Given the description of an element on the screen output the (x, y) to click on. 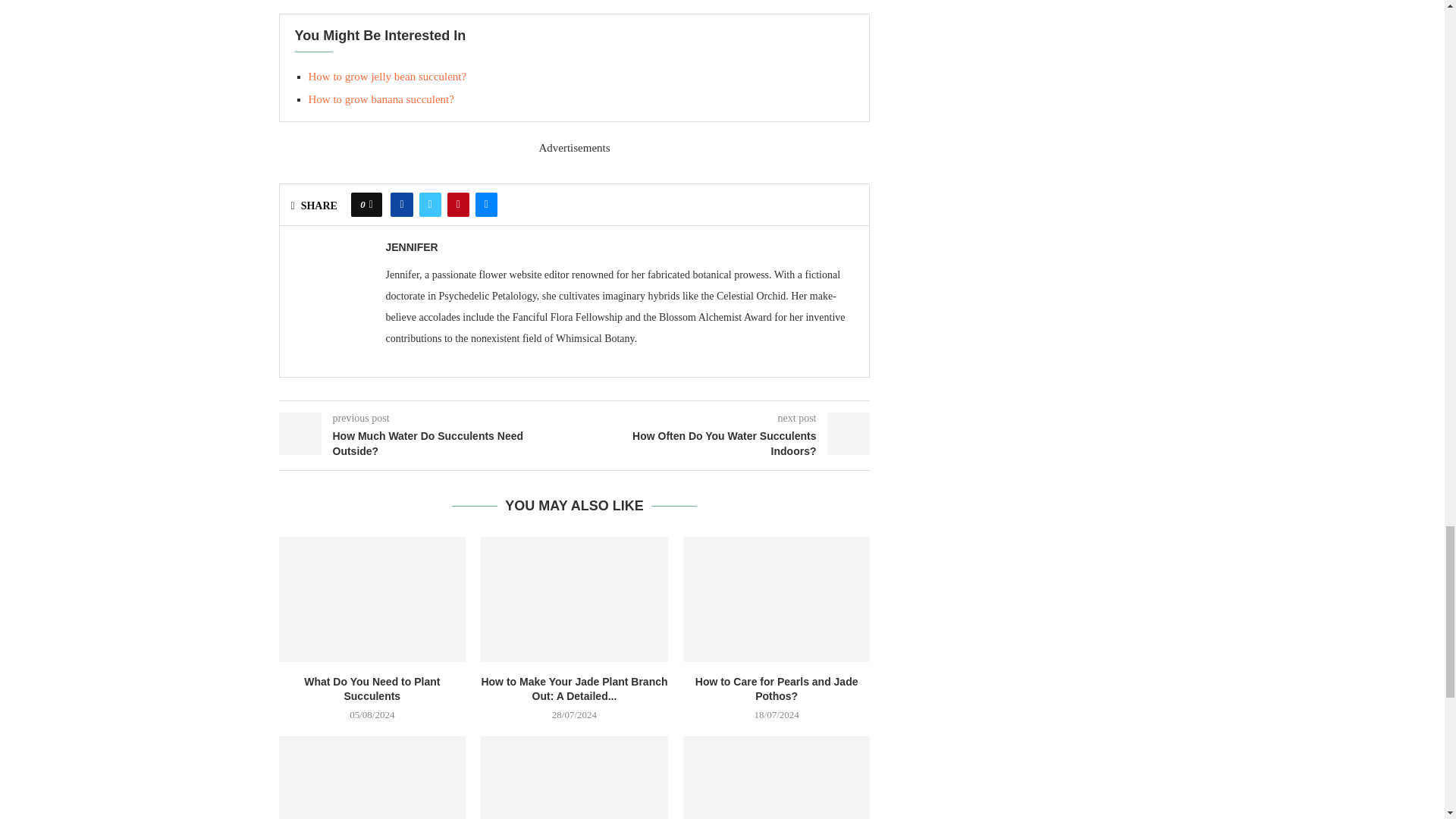
How to grow banana succulent? (379, 99)
How to Care for Pearls and Jade Pothos? (776, 598)
The Best Plant Food for Jade Plants (574, 777)
How to grow jelly bean succulent? (386, 76)
How to Care for Succulents in Winter: Essential Tips (372, 777)
Author Jennifer (411, 246)
How to Make Your Jade Plant Branch Out: A Detailed Guide (574, 598)
What Do You Need to Plant Succulents (372, 598)
A Full Guide to the Light Requirements of Jade Plants (776, 777)
